Given the description of an element on the screen output the (x, y) to click on. 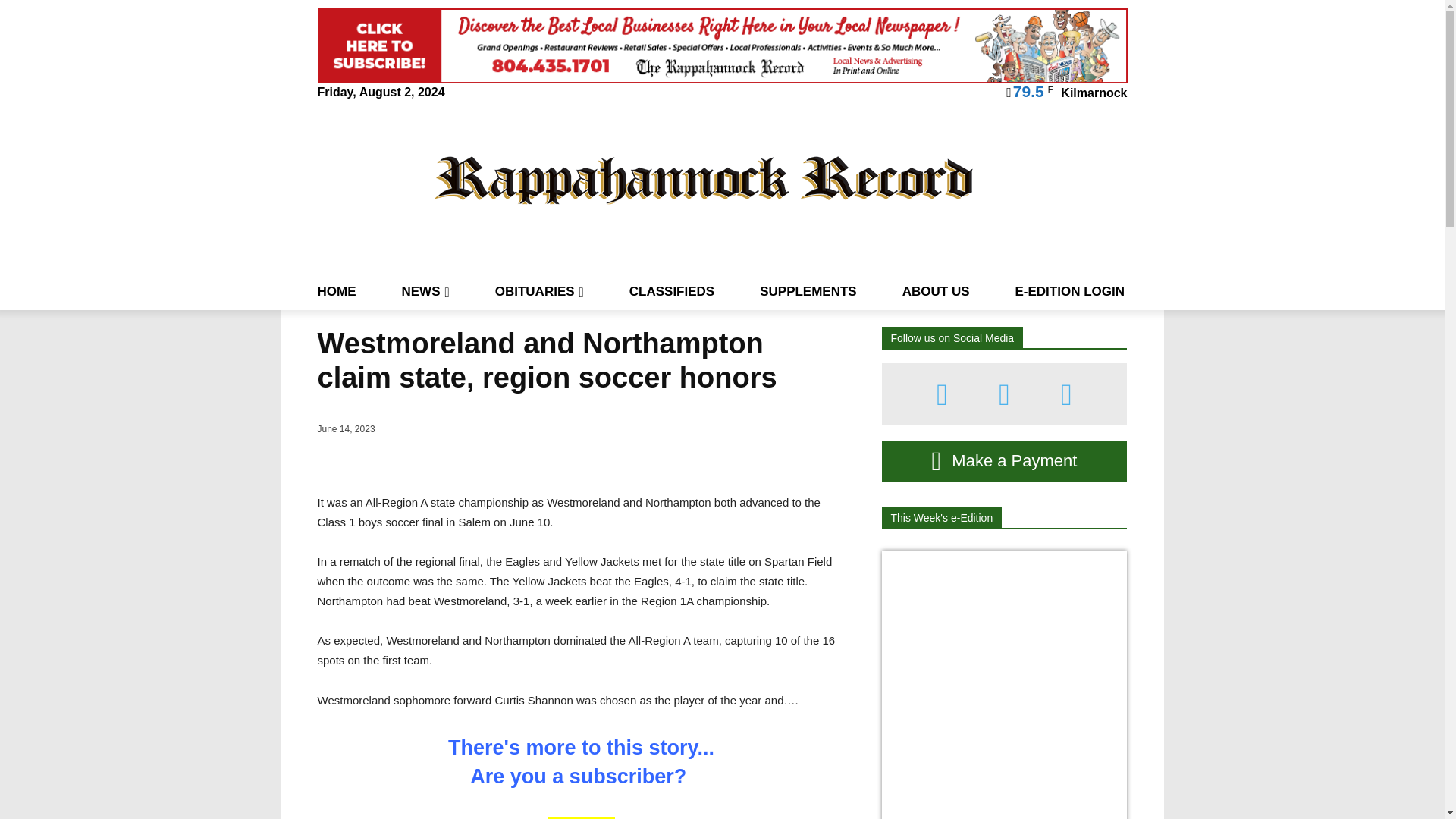
Rappahannock Record (704, 179)
Make a Payment (1003, 461)
E-EDITION LOGIN (1069, 291)
SUPPLEMENTS (808, 291)
This Week's e-Edition (940, 516)
HOME (336, 291)
Facebook (941, 393)
ABOUT US (935, 291)
CLASSIFIEDS (671, 291)
Rappahannock Record (703, 179)
 Log in (580, 817)
Instagram (1003, 393)
Twitter (1066, 393)
OBITUARIES (539, 291)
Make a Payment (1003, 461)
